Given the description of an element on the screen output the (x, y) to click on. 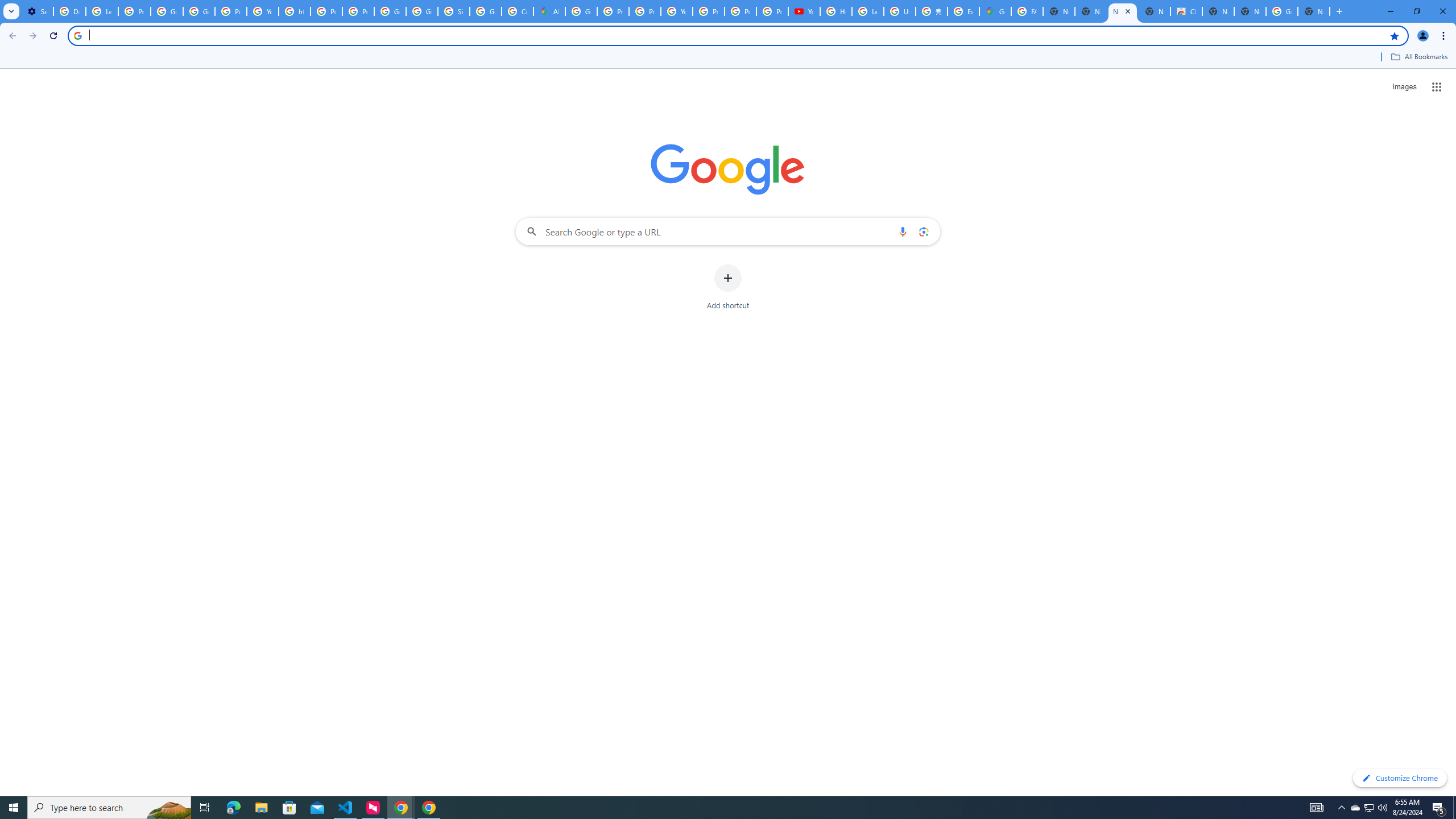
Privacy Checkup (772, 11)
Explore new street-level details - Google Maps Help (963, 11)
Google Maps (995, 11)
Delete photos & videos - Computer - Google Photos Help (69, 11)
Google Images (1281, 11)
Google Account Help (166, 11)
